Given the description of an element on the screen output the (x, y) to click on. 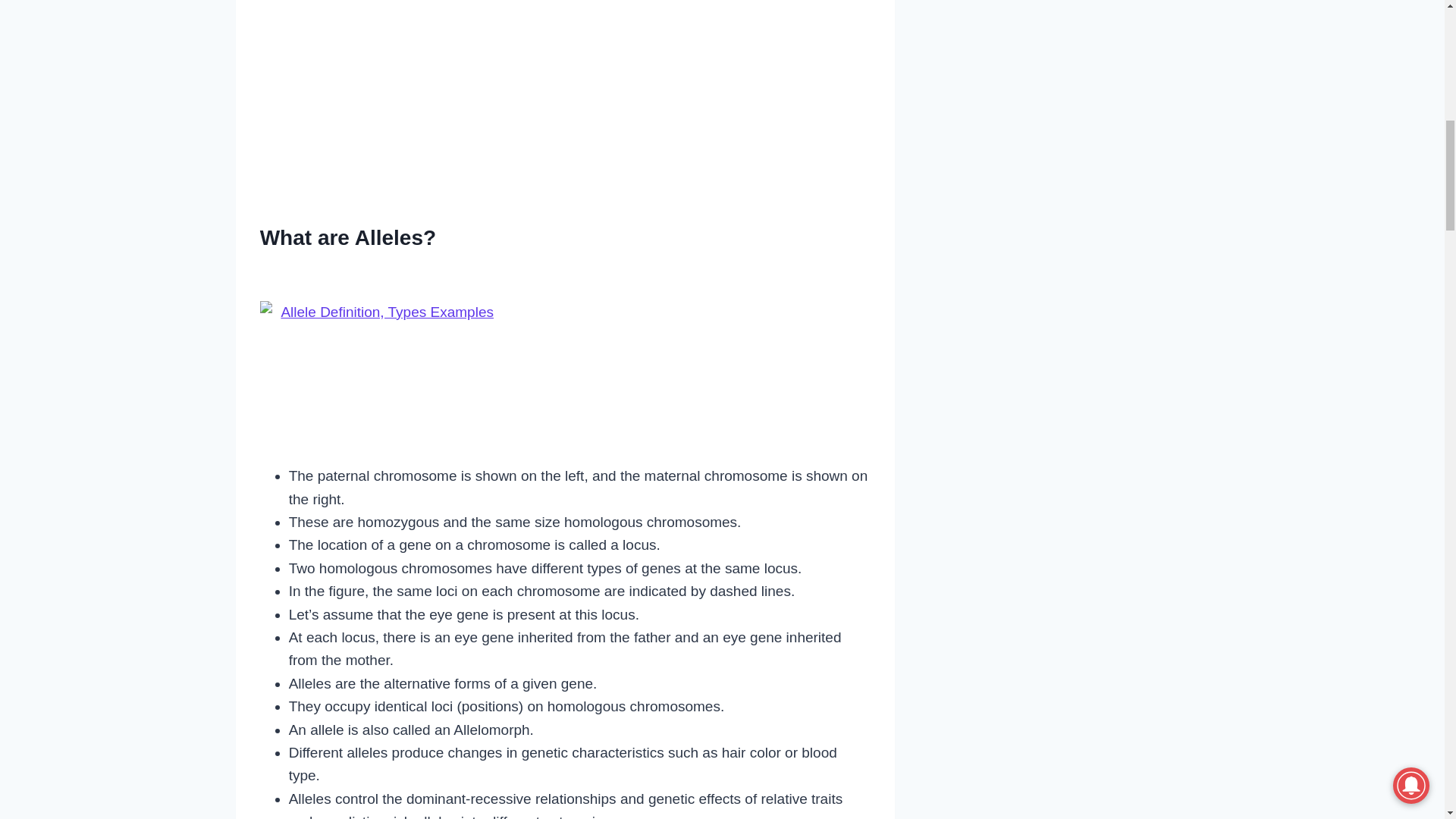
Advertisement (565, 95)
Allele Definition, types, examples (381, 359)
